Given the description of an element on the screen output the (x, y) to click on. 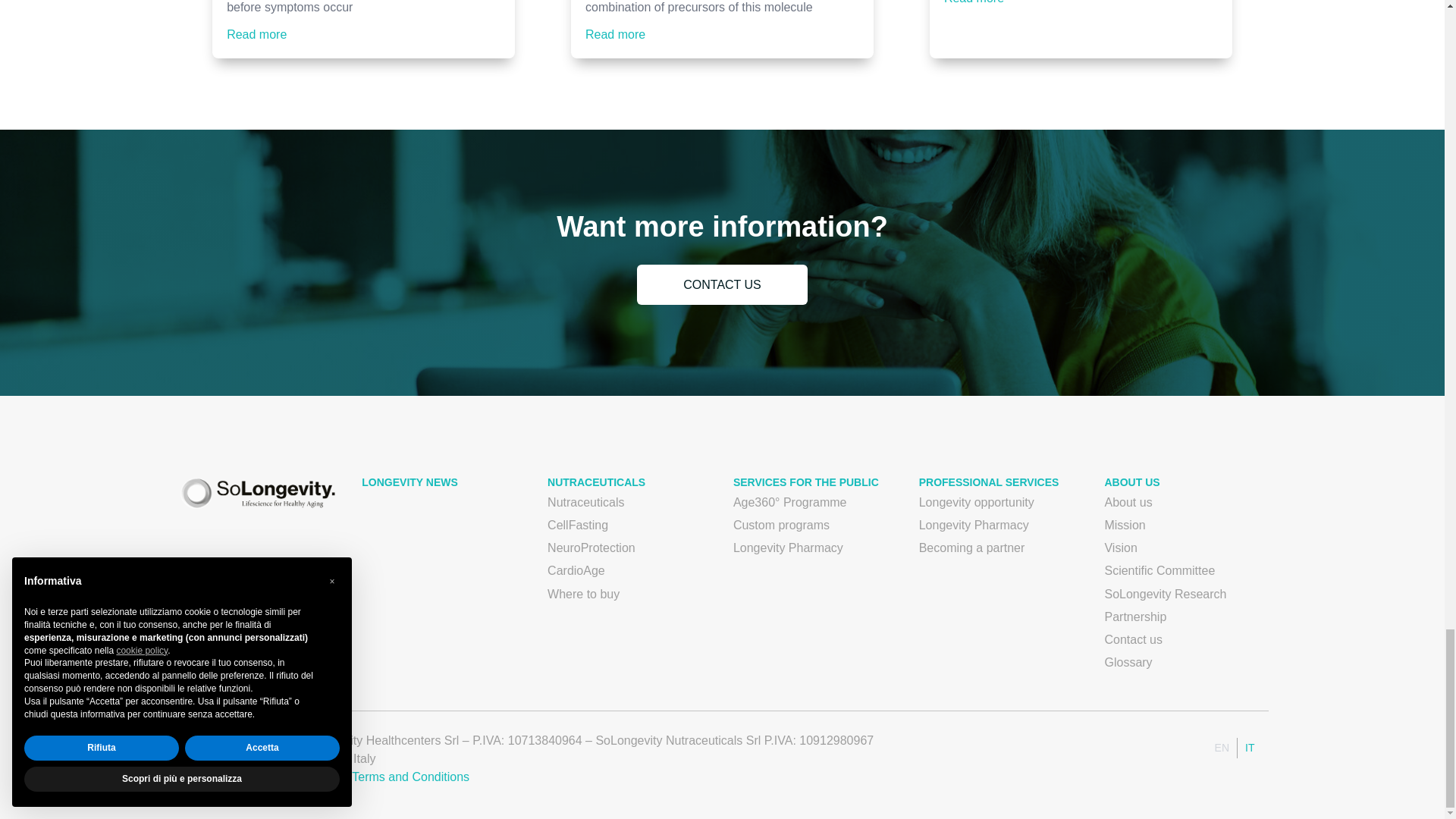
Privacy Policy (213, 776)
Cookie Policy (301, 776)
Terms and Conditions (410, 776)
Solongevity-logo (257, 493)
